Given the description of an element on the screen output the (x, y) to click on. 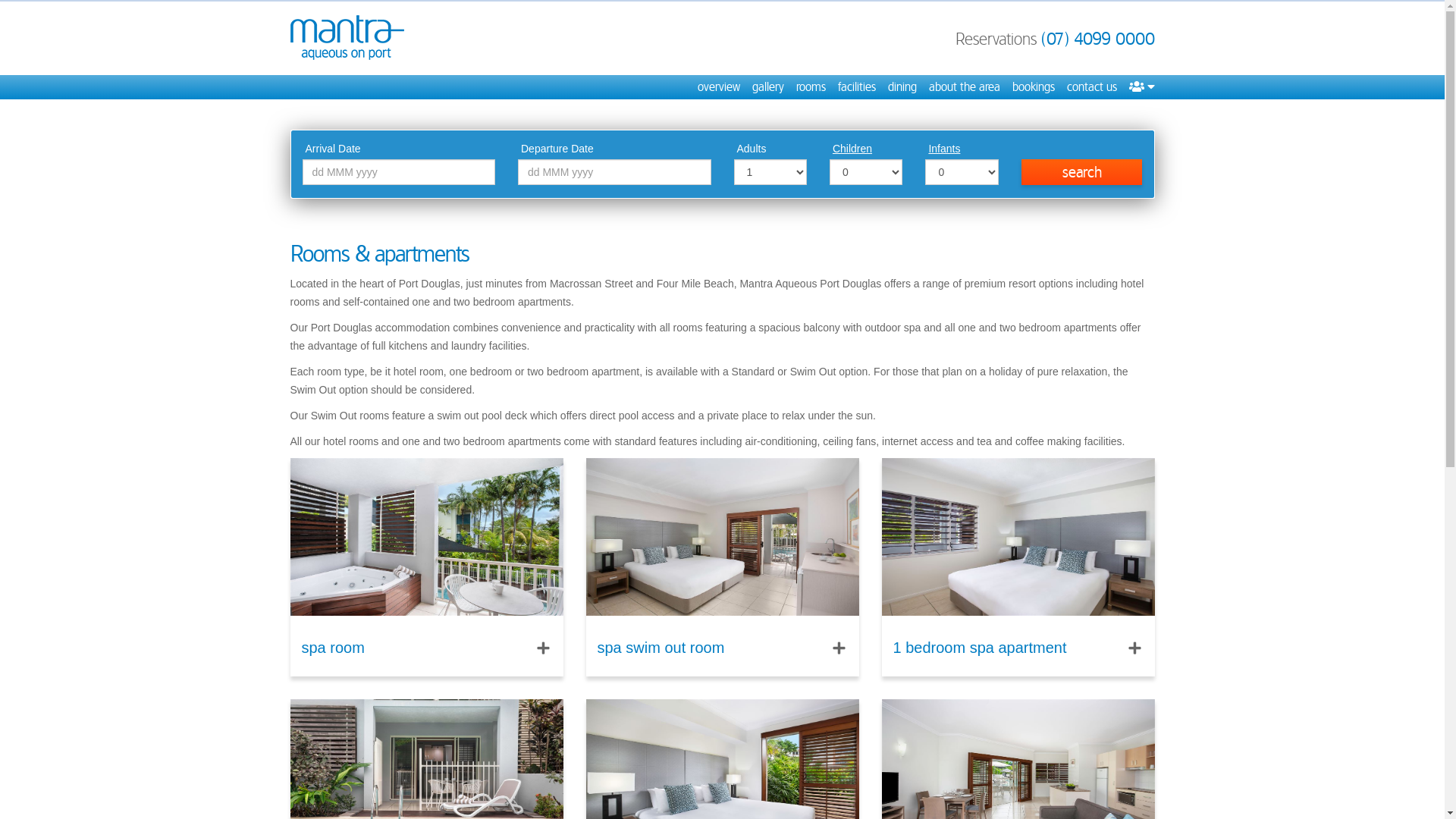
(07) 4099 0000 Element type: text (1097, 38)
rooms Element type: text (810, 87)
gallery Element type: text (768, 87)
bookings Element type: text (1032, 87)
search Element type: text (1081, 172)
contact us Element type: text (1091, 87)
Mantra Aqueous on Port Element type: hover (346, 37)
dining Element type: text (901, 87)
facilities Element type: text (856, 87)
about the area Element type: text (963, 87)
overview Element type: text (718, 87)
